Given the description of an element on the screen output the (x, y) to click on. 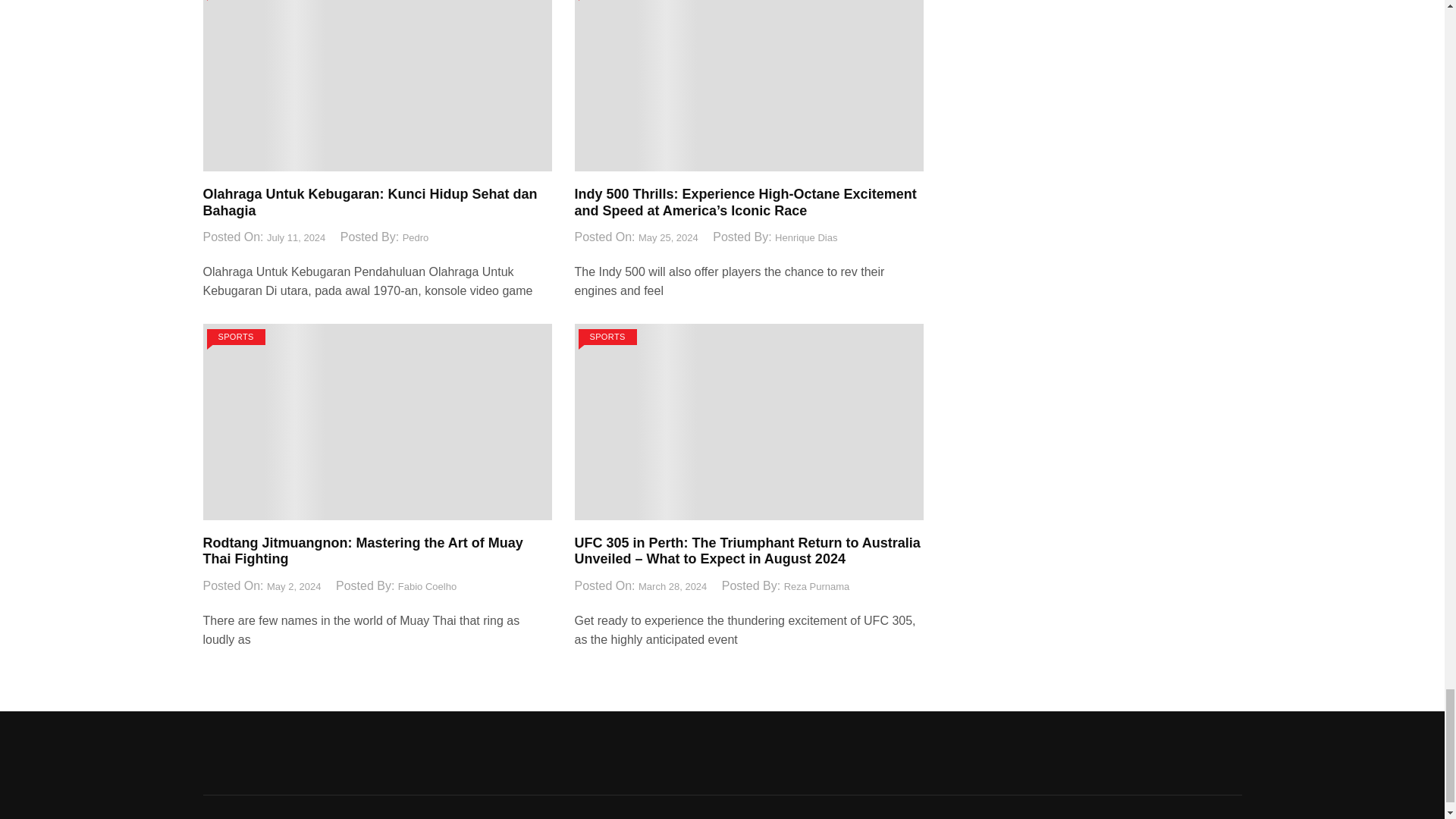
Pedro (416, 238)
Olahraga Untuk Kebugaran: Kunci Hidup Sehat dan Bahagia (370, 202)
July 11, 2024 (295, 238)
